Given the description of an element on the screen output the (x, y) to click on. 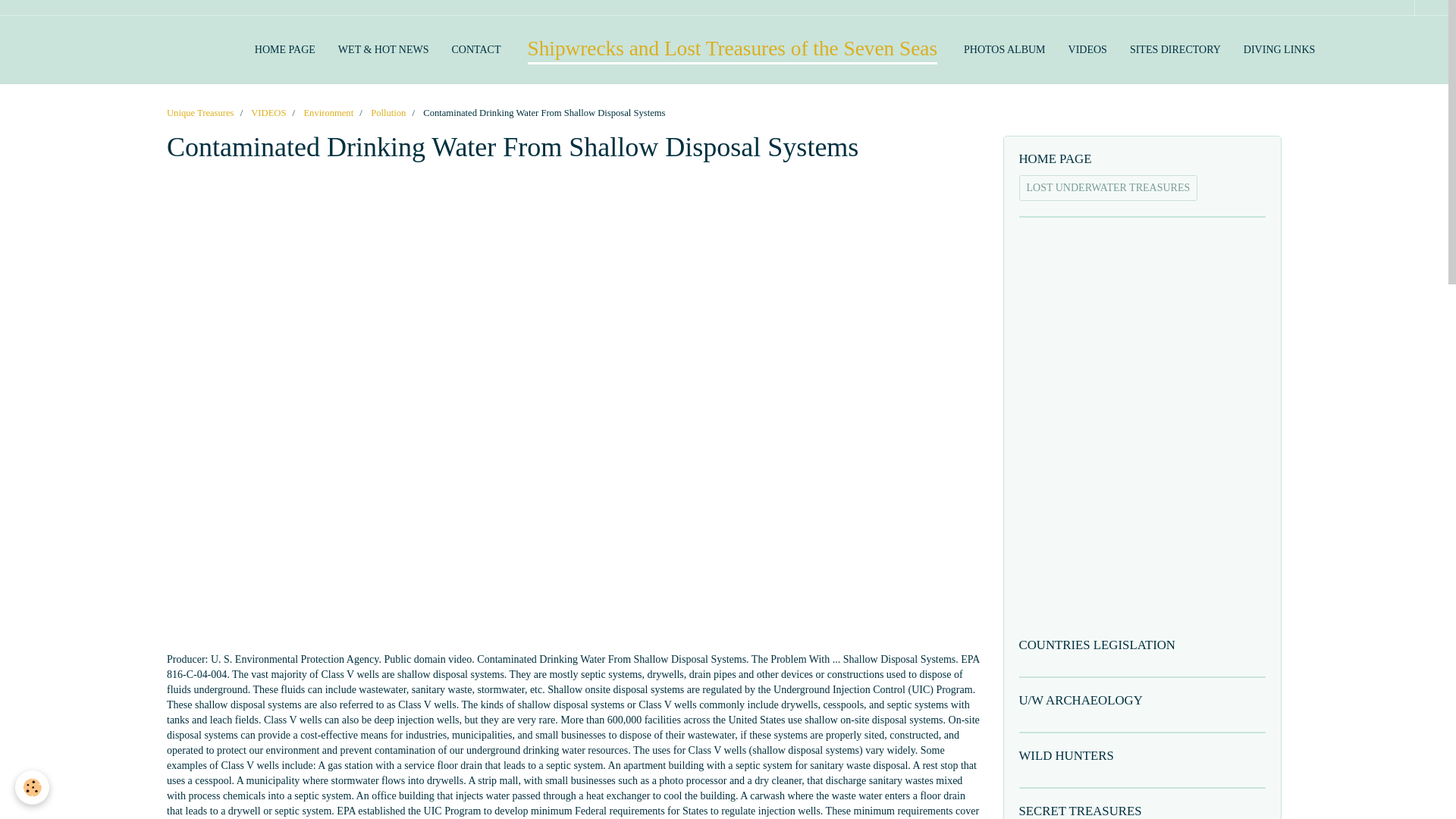
COUNTRIES LEGISLATION (1142, 645)
DIVING LINKS (1278, 49)
WILD HUNTERS (1142, 756)
Environment (327, 112)
Shipwrecks and Lost Treasures of the Seven Seas (732, 49)
PHOTOS ALBUM (1004, 49)
VIDEOS (267, 112)
Pollution (388, 112)
SITES DIRECTORY (1174, 49)
VIDEOS (1087, 49)
Unique Treasures (200, 112)
CONTACT (475, 49)
LOST UNDERWATER TREASURES (1108, 187)
HOME PAGE (1142, 159)
